Given the description of an element on the screen output the (x, y) to click on. 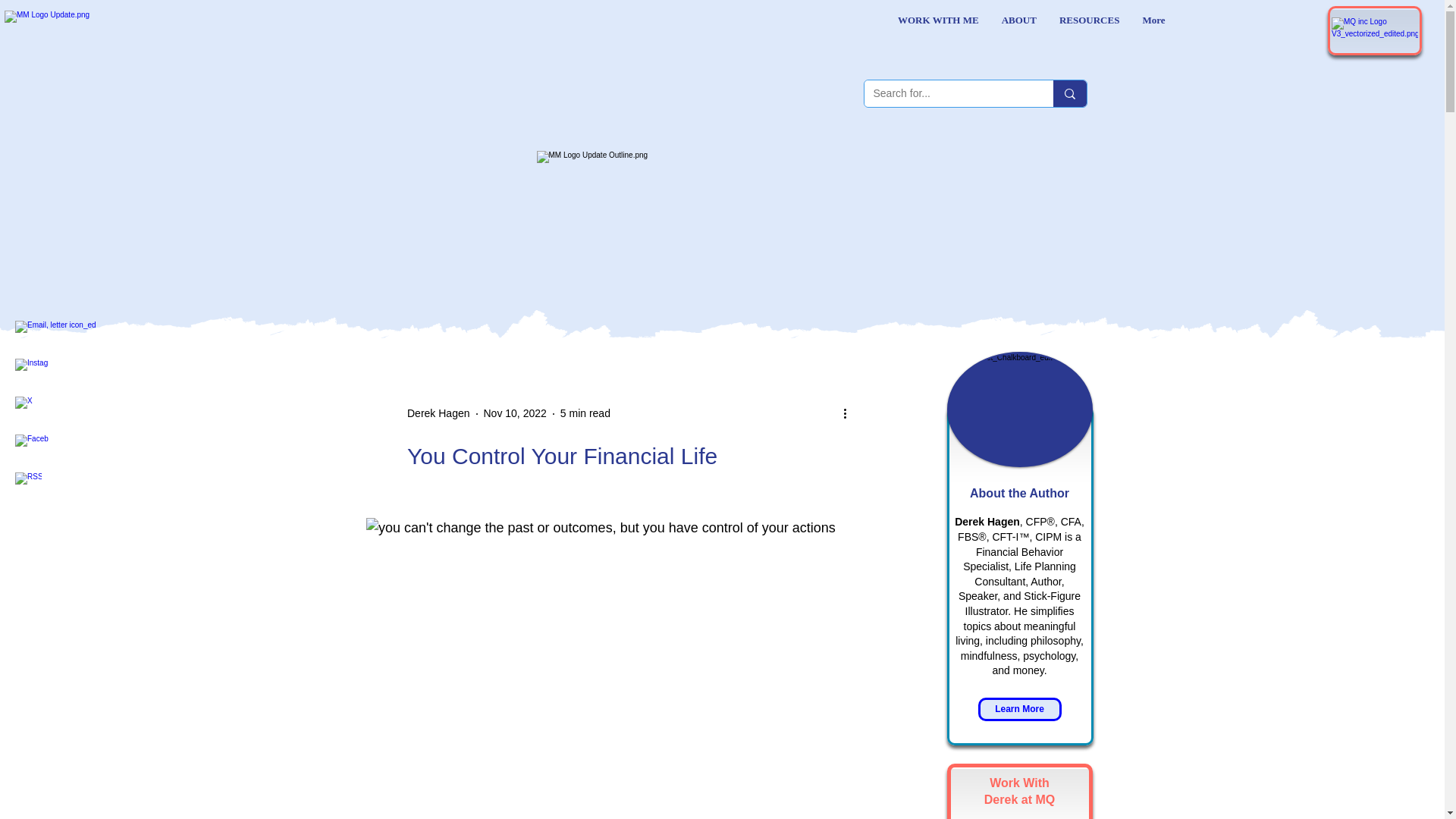
ABOUT (1019, 29)
WORK WITH ME (938, 29)
Derek Hagen (438, 413)
RESOURCES (1089, 29)
Derek Hagen (438, 413)
5 min read (585, 413)
Nov 10, 2022 (515, 413)
